Given the description of an element on the screen output the (x, y) to click on. 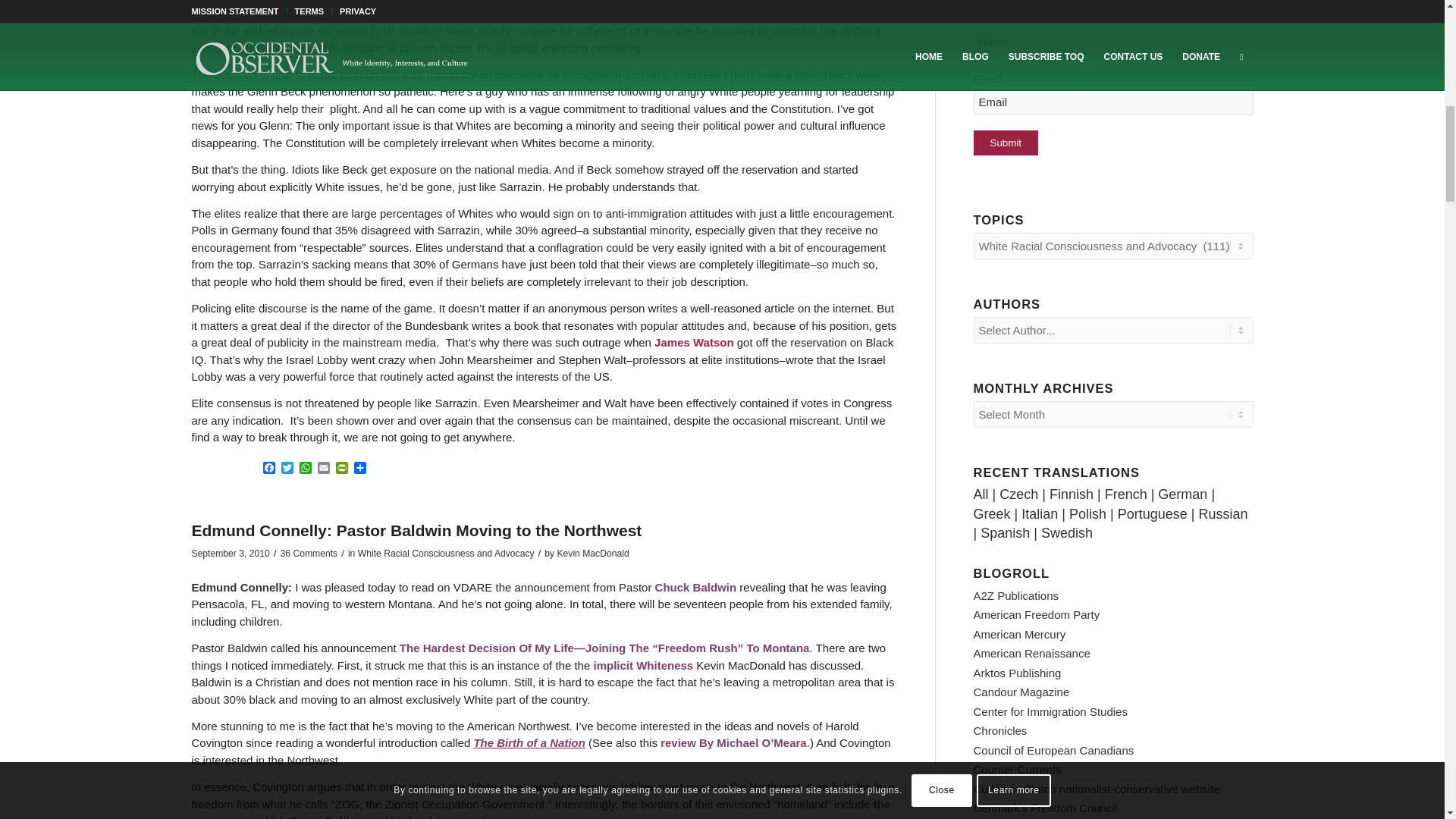
Submit (1006, 142)
Facebook (268, 468)
Twitter (286, 468)
